Given the description of an element on the screen output the (x, y) to click on. 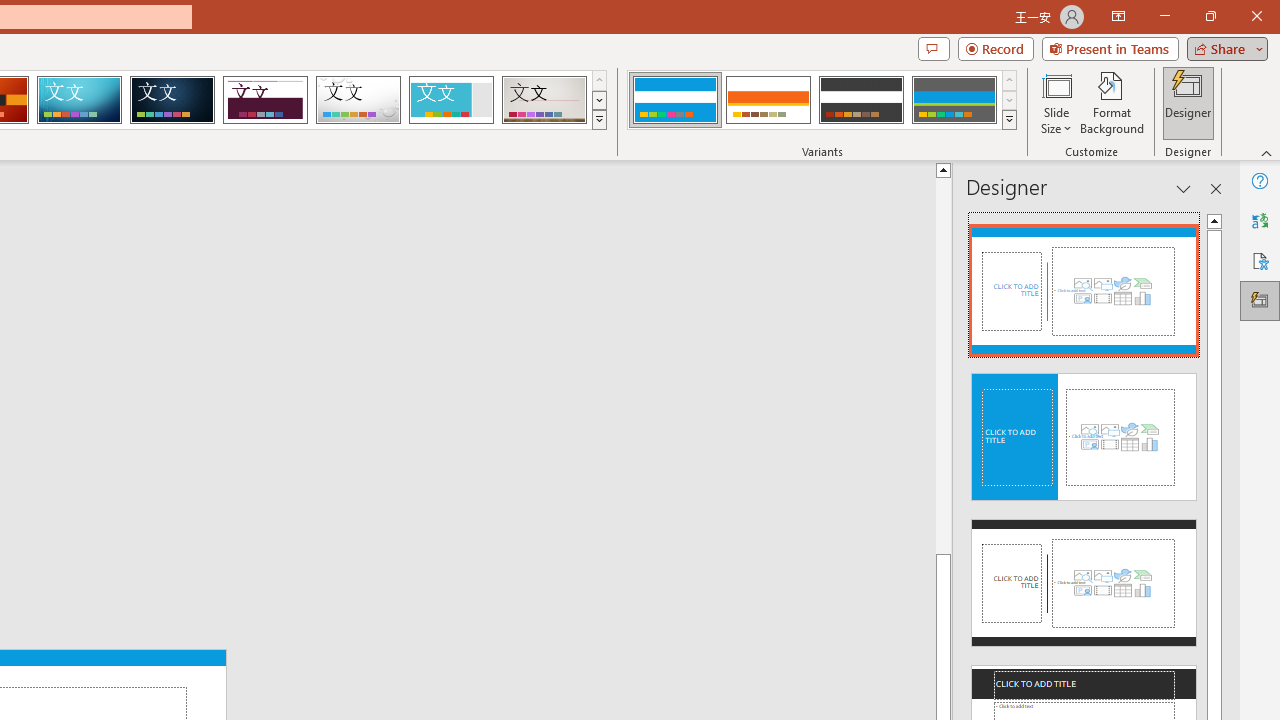
Banded Variant 3 (861, 100)
Banded Variant 2 (768, 100)
